Given the description of an element on the screen output the (x, y) to click on. 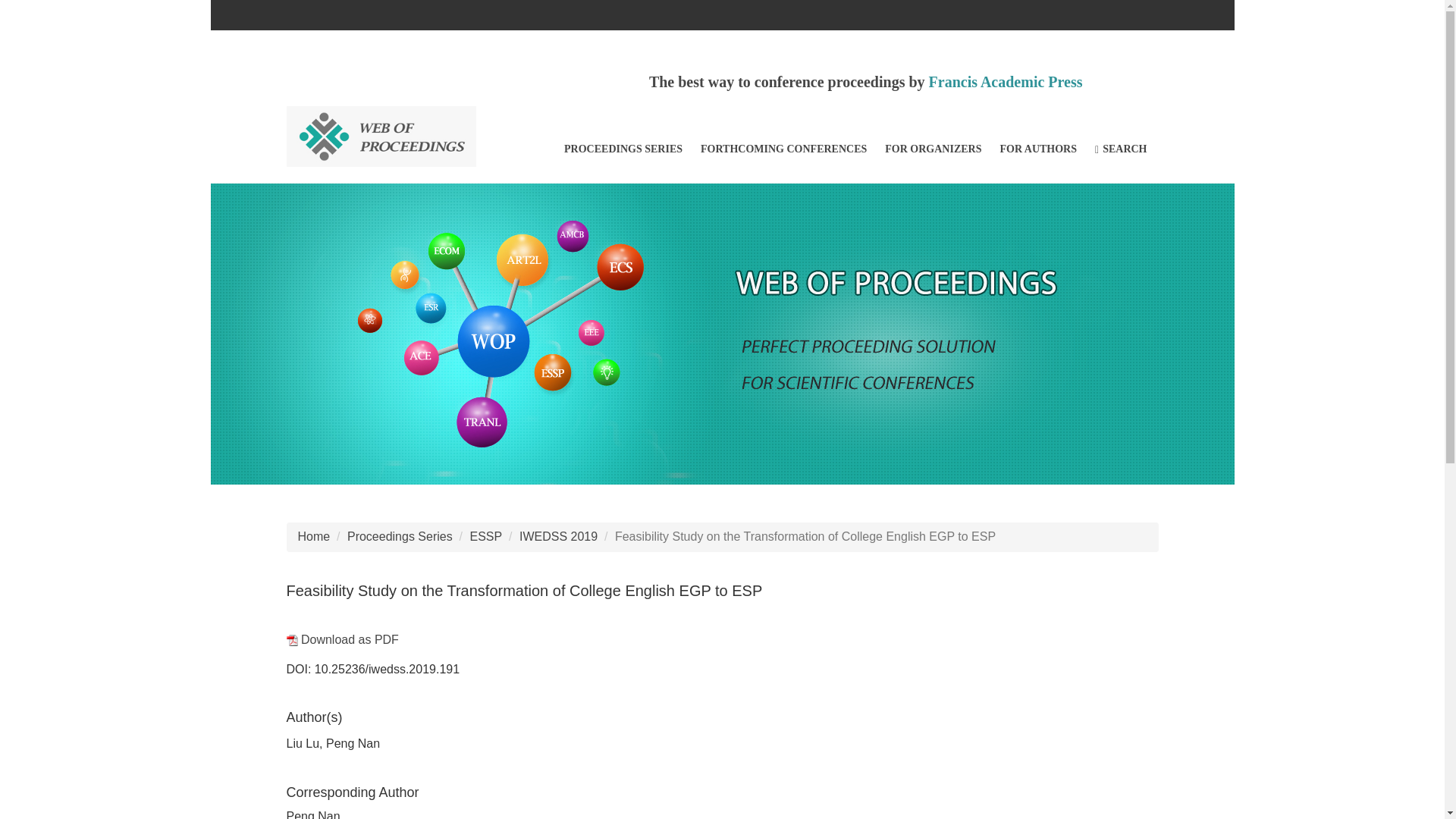
Proceedings Series (399, 535)
FORTHCOMING CONFERENCES (783, 148)
SEARCH (1120, 148)
PROCEEDINGS SERIES (623, 148)
Francis Academic Press (1005, 81)
Home (313, 535)
Download as PDF (342, 639)
FOR AUTHORS (1037, 148)
FOR ORGANIZERS (933, 148)
IWEDSS 2019 (557, 535)
ESSP (486, 535)
